Given the description of an element on the screen output the (x, y) to click on. 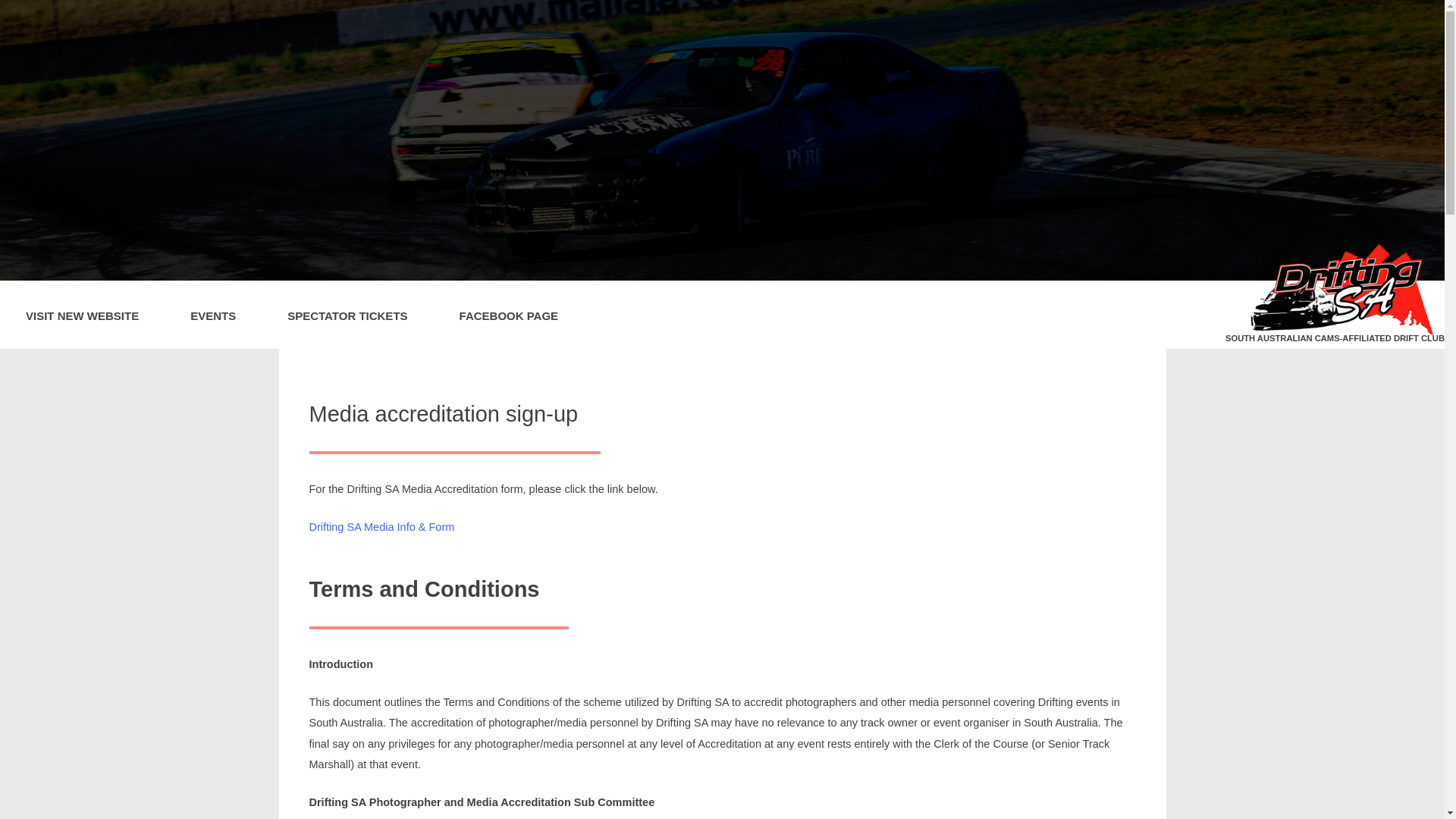
EVENTS Element type: text (212, 314)
FACEBOOK PAGE Element type: text (508, 314)
VISIT NEW WEBSITE Element type: text (82, 314)
Drifting SA Media Info & Form Element type: text (382, 526)
SPECTATOR TICKETS Element type: text (347, 314)
